Given the description of an element on the screen output the (x, y) to click on. 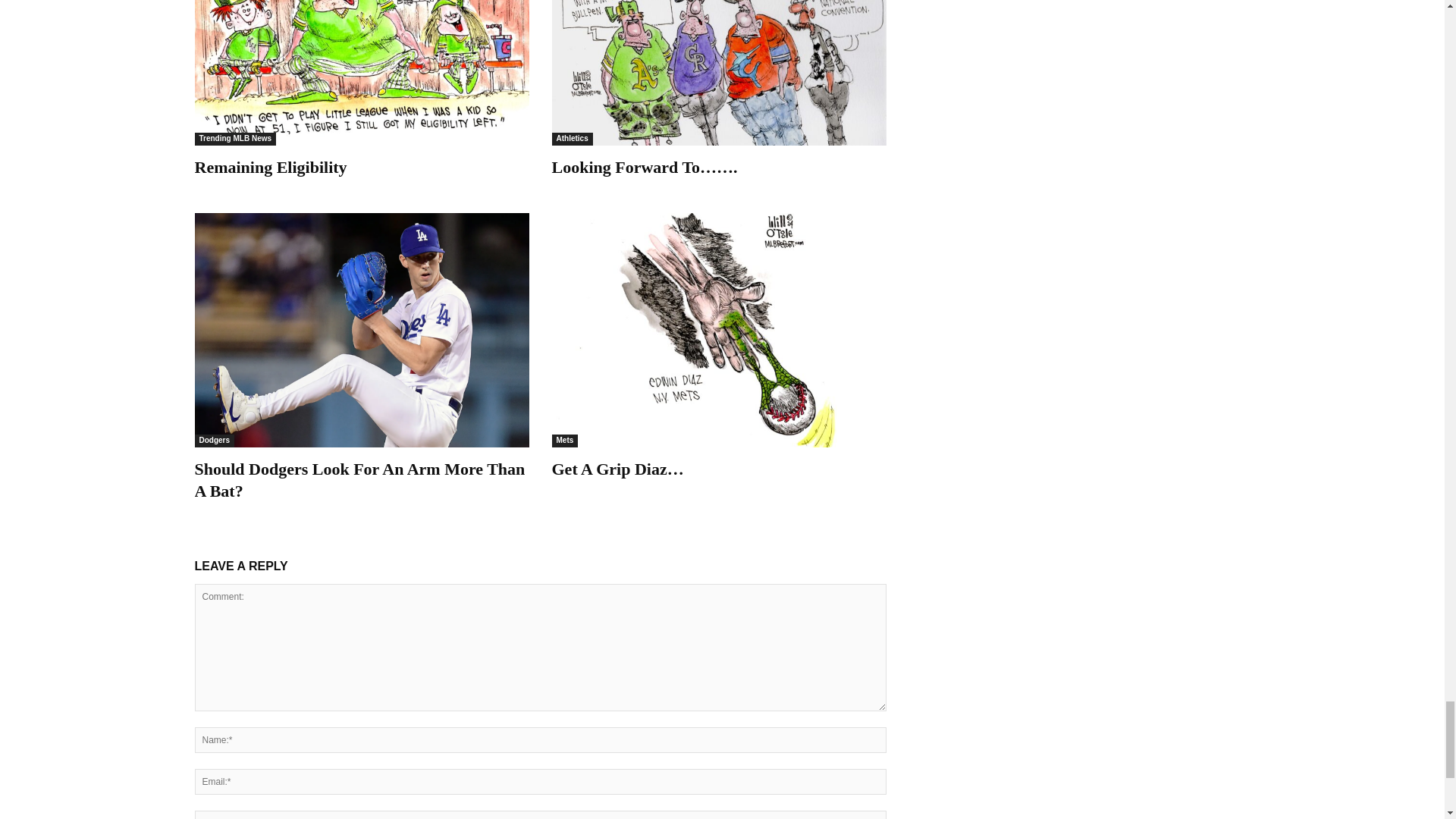
Trending MLB News (234, 138)
